Given the description of an element on the screen output the (x, y) to click on. 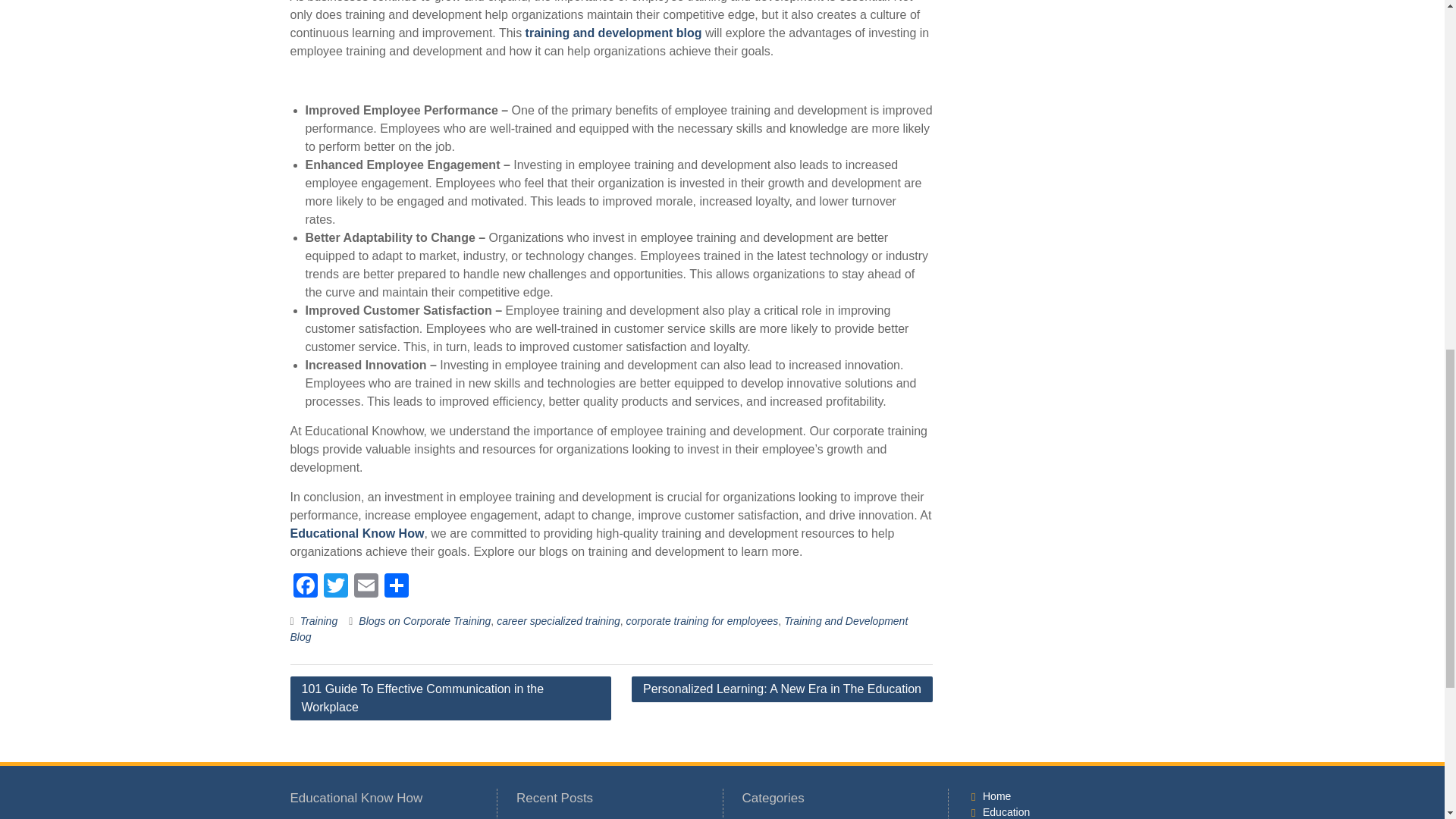
Blogs on Corporate Training (424, 621)
Twitter (335, 587)
Twitter (335, 587)
Educational Know How (356, 533)
Training and Development Blog (598, 628)
Personalized Learning: A New Era in The Education (782, 688)
Training (318, 621)
training and development blog (613, 32)
corporate training for employees (702, 621)
Facebook (304, 587)
Facebook (304, 587)
career specialized training (558, 621)
Email (365, 587)
101 Guide To Effective Communication in the Workplace (450, 698)
Email (365, 587)
